Given the description of an element on the screen output the (x, y) to click on. 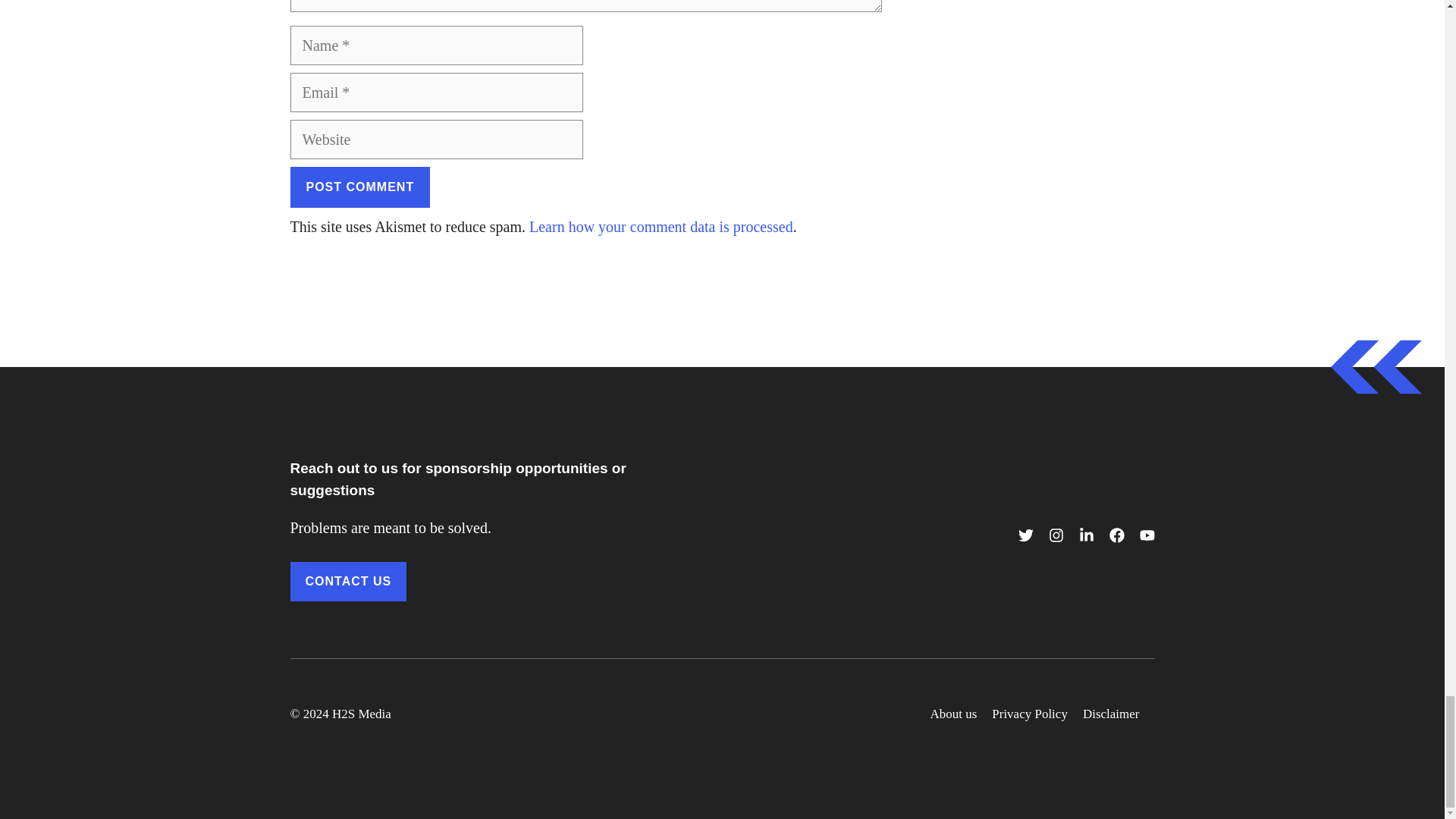
Post Comment (359, 187)
